Given the description of an element on the screen output the (x, y) to click on. 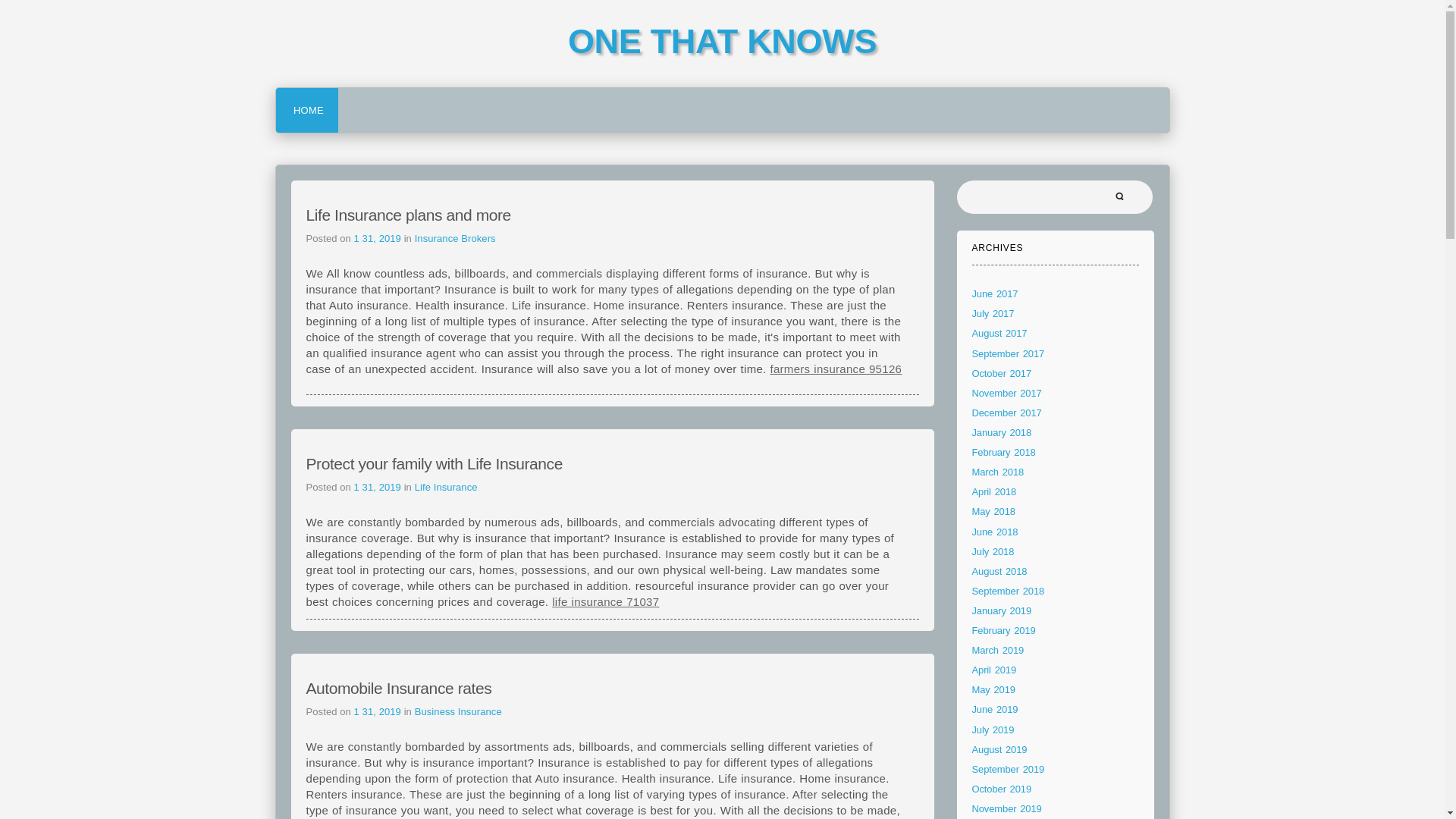
View all posts in Business Insurance (458, 711)
Protect your family with Life Insurance (433, 463)
farmers insurance 95126 (835, 368)
Automobile  Insurance rates (398, 687)
September 2017 (1008, 353)
Life Insurance (445, 487)
November 2017 (1007, 392)
life insurance 71037 (605, 601)
January 2018 (1002, 432)
1 31, 2019  (378, 487)
